Given the description of an element on the screen output the (x, y) to click on. 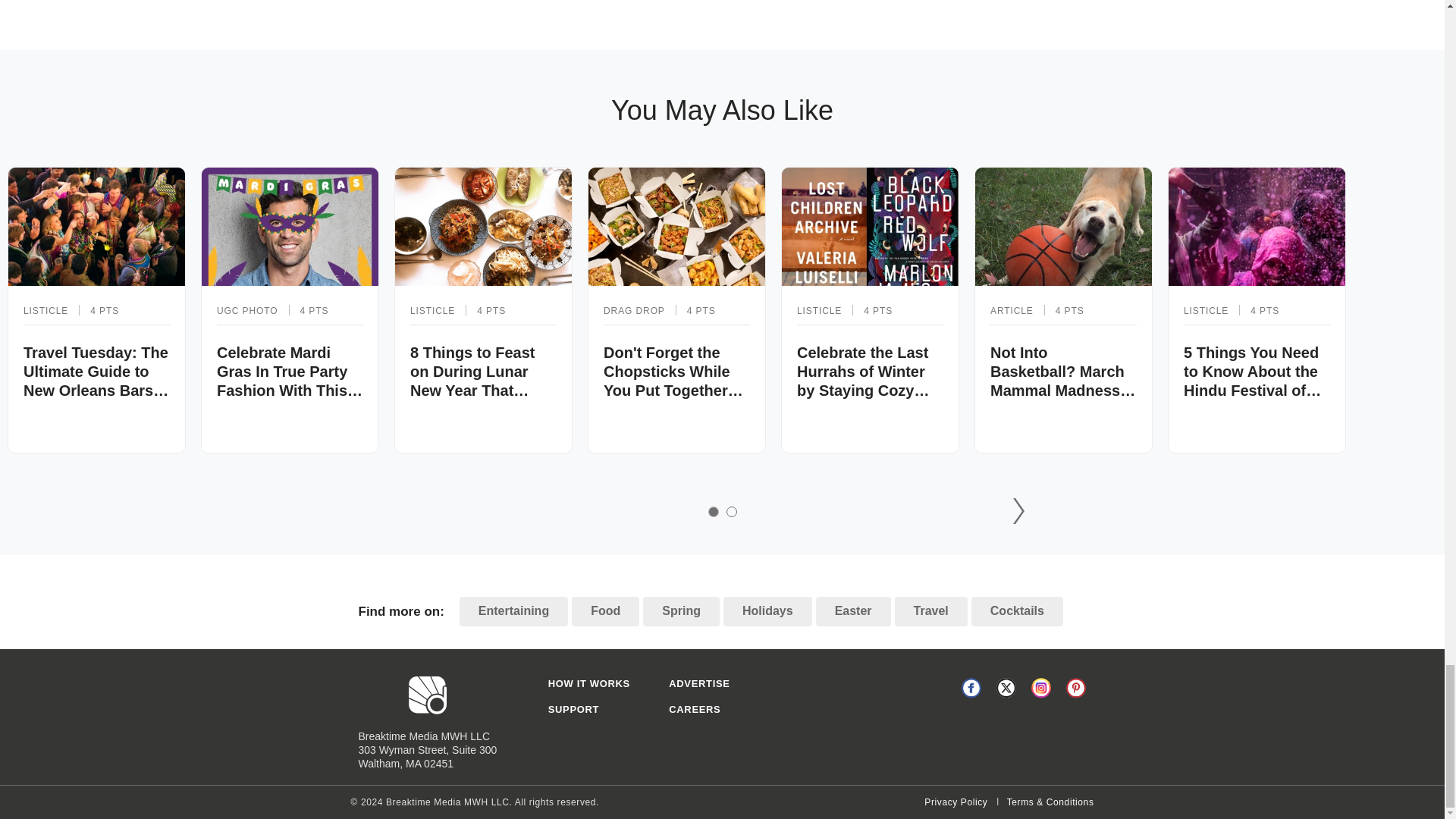
2 (731, 511)
Food (605, 611)
Entertaining (513, 611)
1 (713, 511)
